Given the description of an element on the screen output the (x, y) to click on. 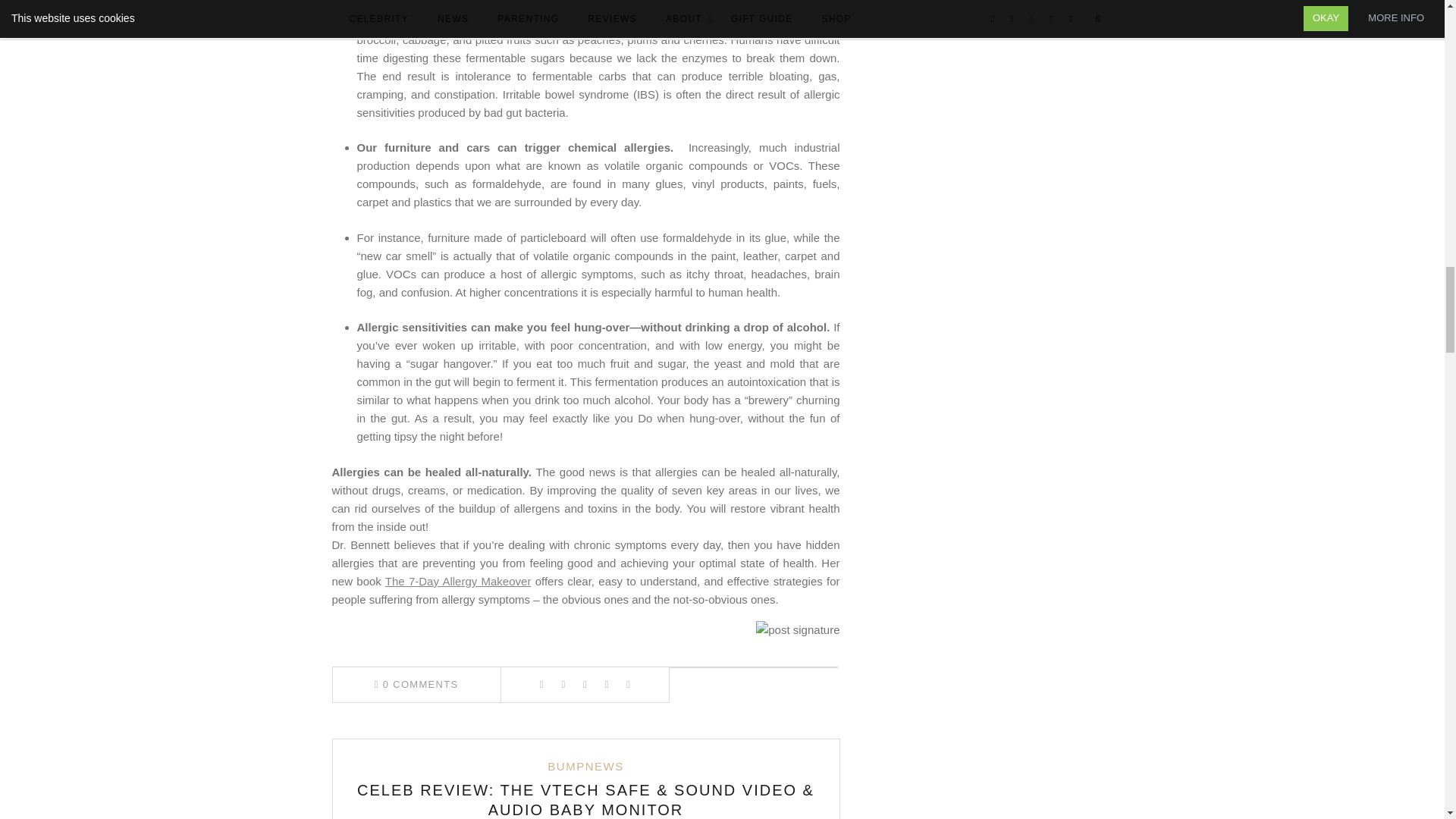
Facebook (541, 684)
The 7-Day Allergy Makeover (458, 581)
Twitter (562, 684)
0 COMMENTS (416, 684)
Pinterest (584, 684)
BUMPNEWS (585, 766)
LinkedIn (605, 684)
